Given the description of an element on the screen output the (x, y) to click on. 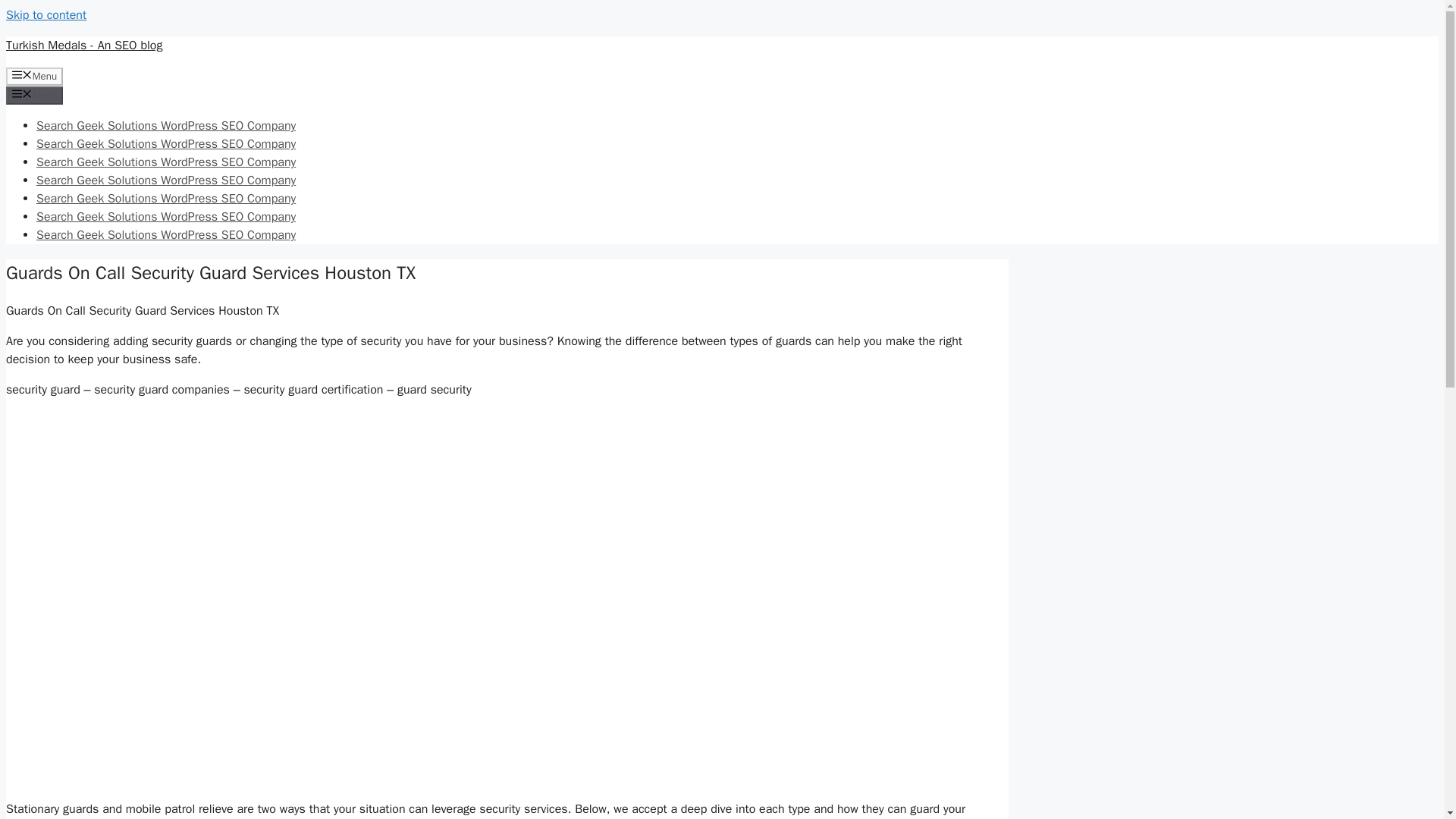
Skip to content (45, 14)
Turkish Medals - An SEO blog (83, 45)
Search Geek Solutions WordPress SEO Company (165, 143)
Search Geek Solutions WordPress SEO Company (165, 125)
Search Geek Solutions WordPress SEO Company (165, 161)
Skip to content (45, 14)
Search Geek Solutions WordPress SEO Company (165, 180)
Search Geek Solutions WordPress SEO Company (165, 234)
Menu (33, 76)
Menu (33, 95)
Search Geek Solutions WordPress SEO Company (165, 216)
Search Geek Solutions WordPress SEO Company (165, 198)
